Given the description of an element on the screen output the (x, y) to click on. 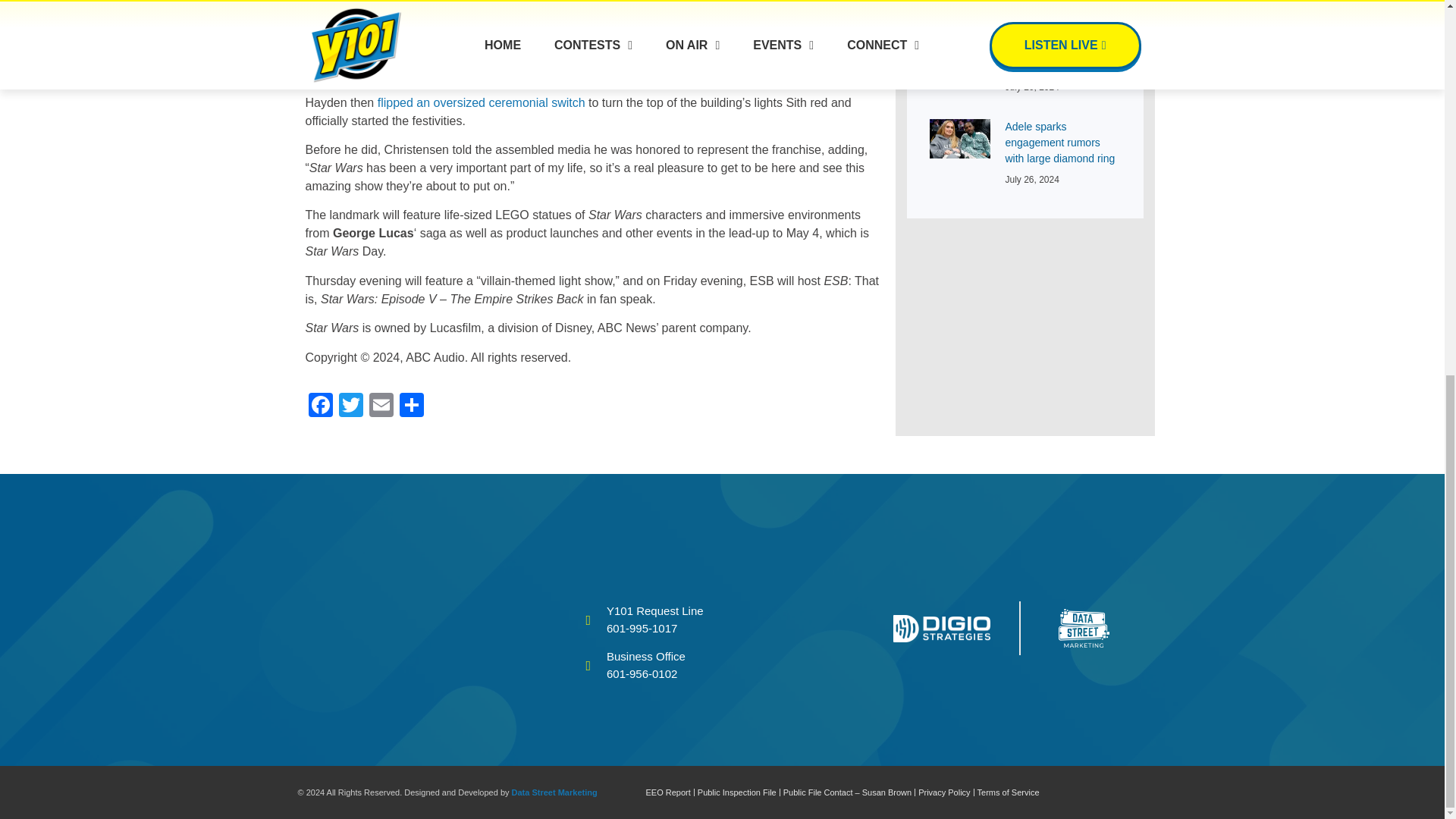
Facebook (319, 406)
Twitter (349, 406)
Email (380, 406)
